Given the description of an element on the screen output the (x, y) to click on. 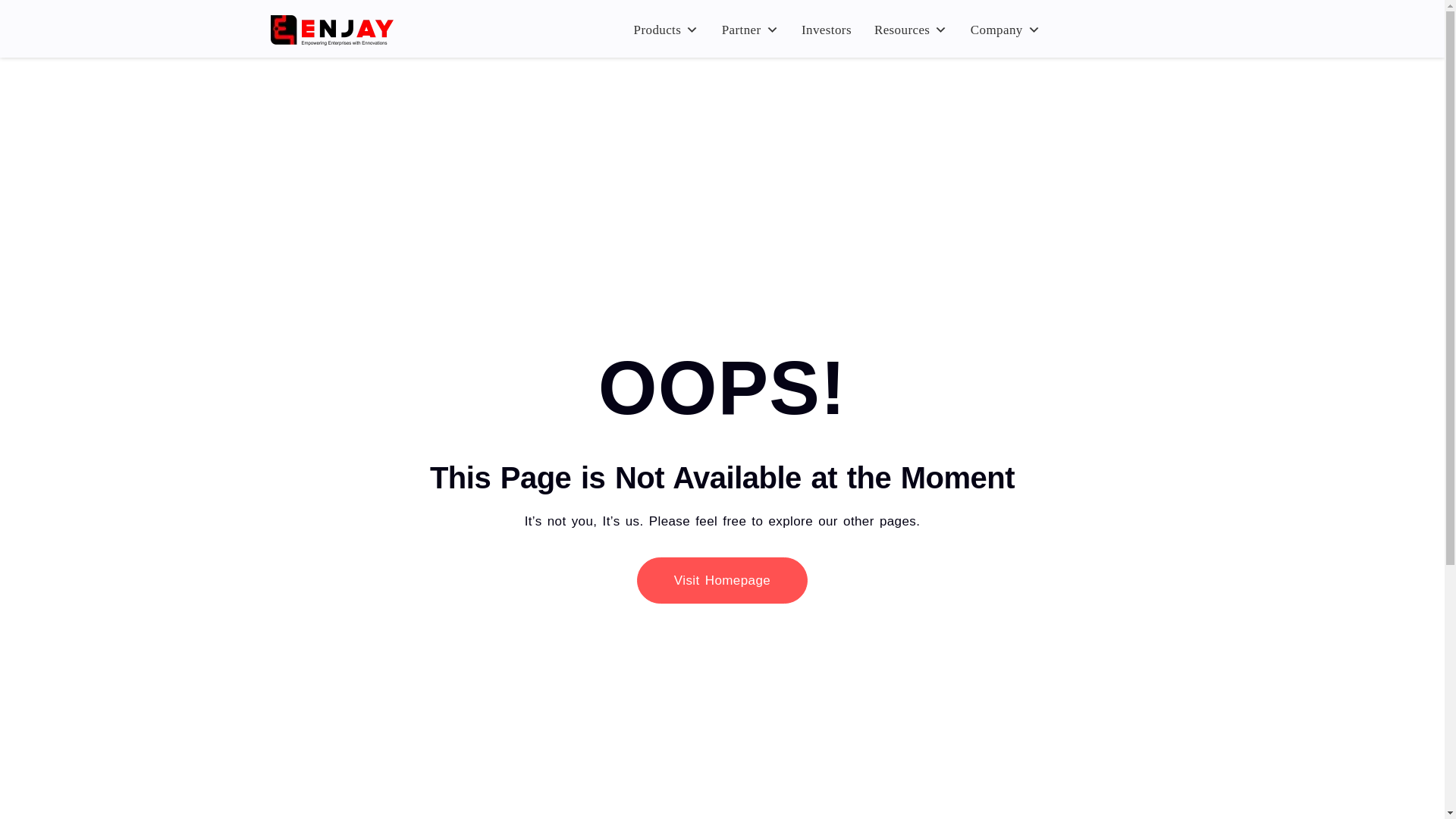
Products (666, 30)
Partner (750, 30)
Resources (910, 30)
Company (1005, 30)
Investors (826, 30)
